Given the description of an element on the screen output the (x, y) to click on. 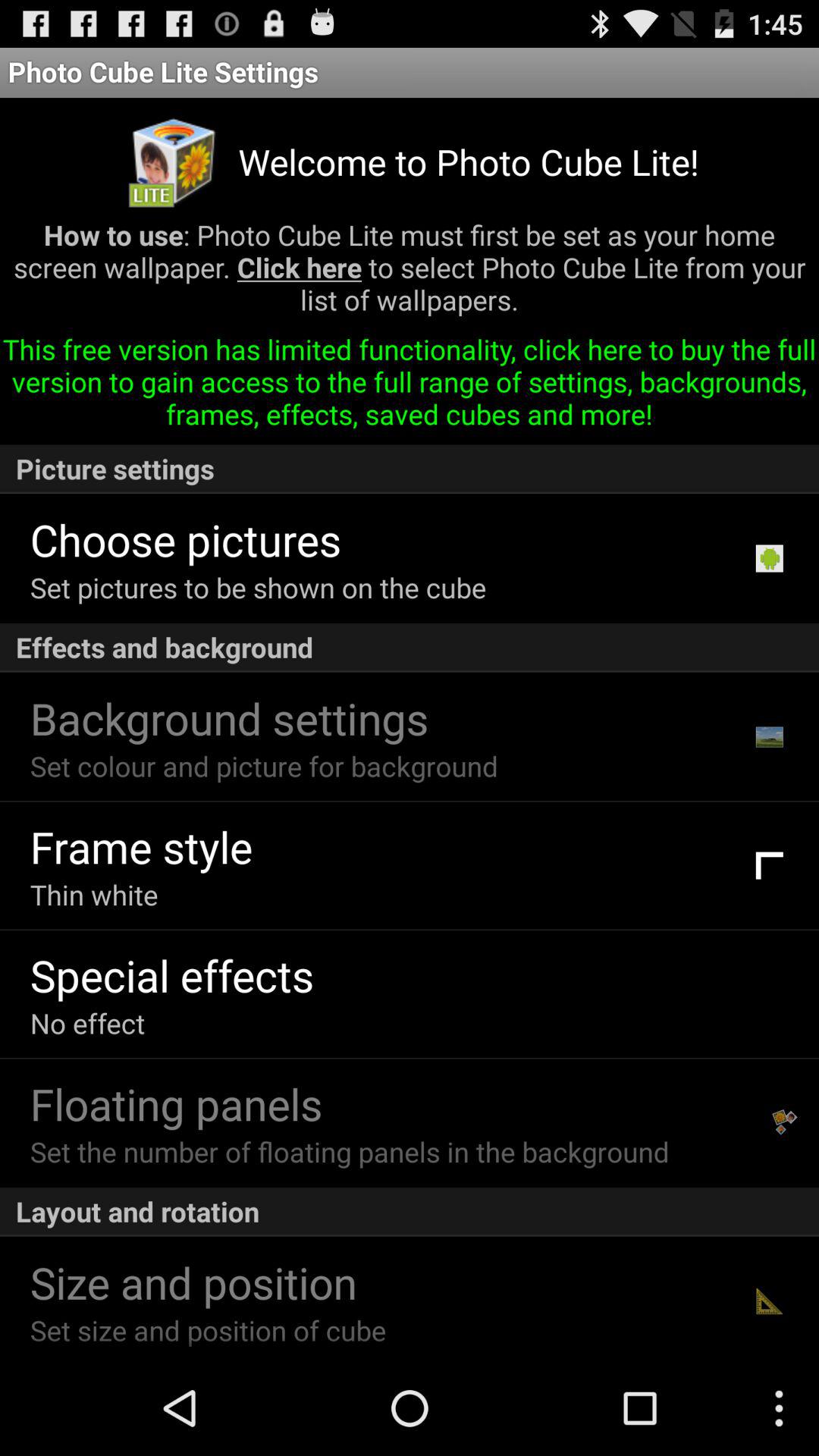
launch the app to the right of special effects (769, 993)
